Given the description of an element on the screen output the (x, y) to click on. 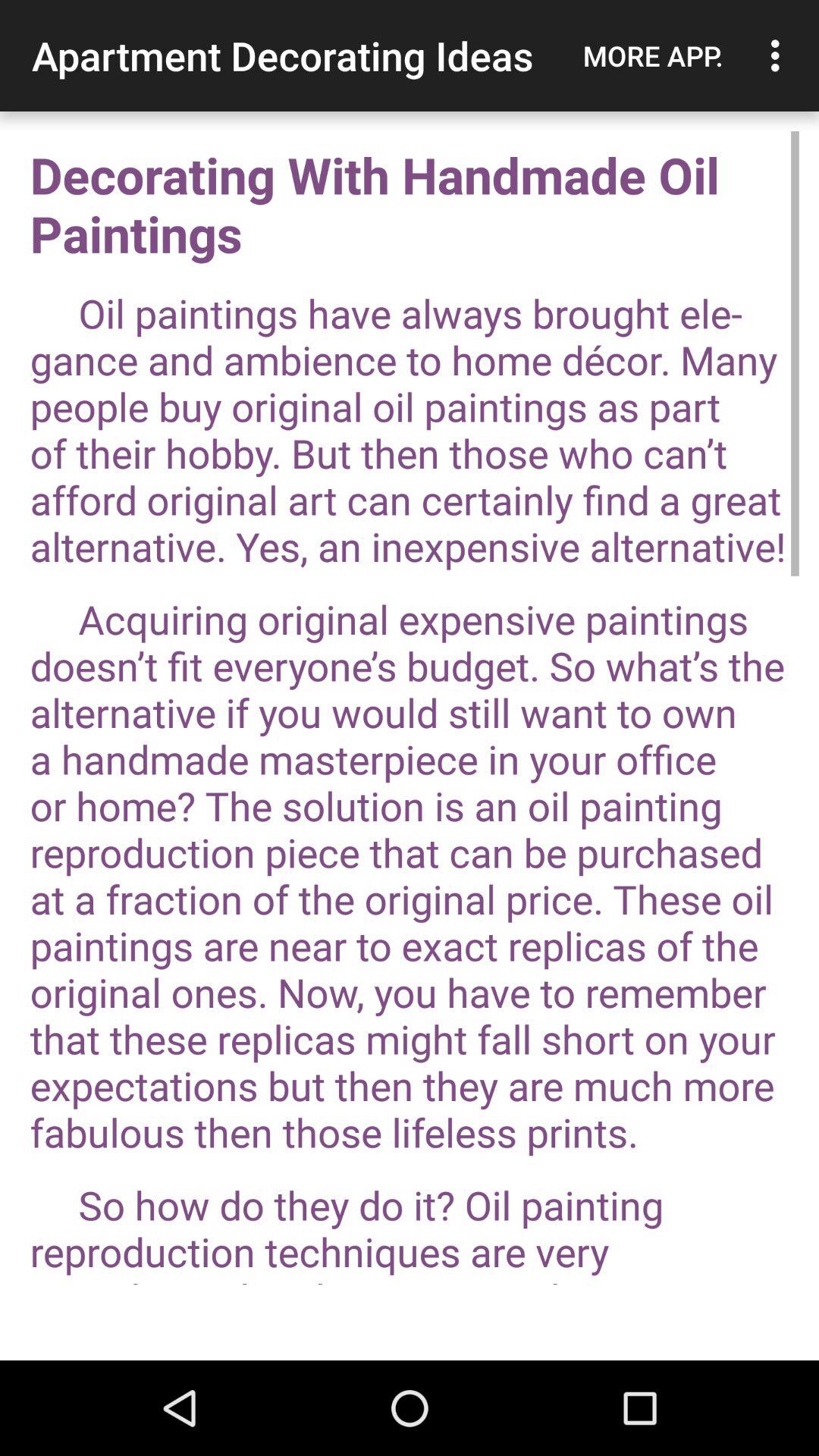
turn on item next to apartment decorating ideas item (653, 55)
